Given the description of an element on the screen output the (x, y) to click on. 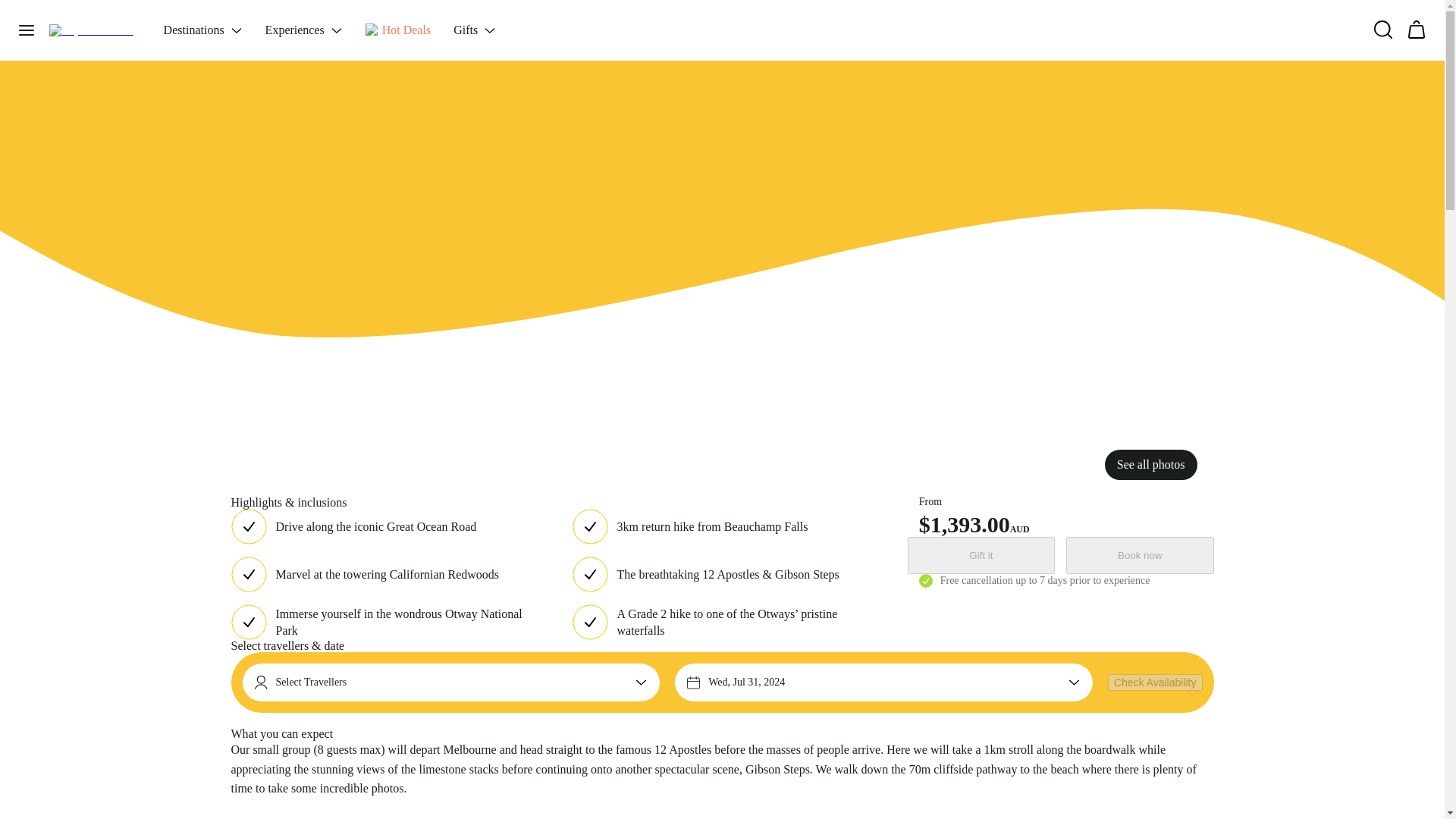
Gift it (980, 555)
Check Availability (1155, 682)
Melbourne (282, 14)
Book now (1138, 555)
Home (240, 14)
